Given the description of an element on the screen output the (x, y) to click on. 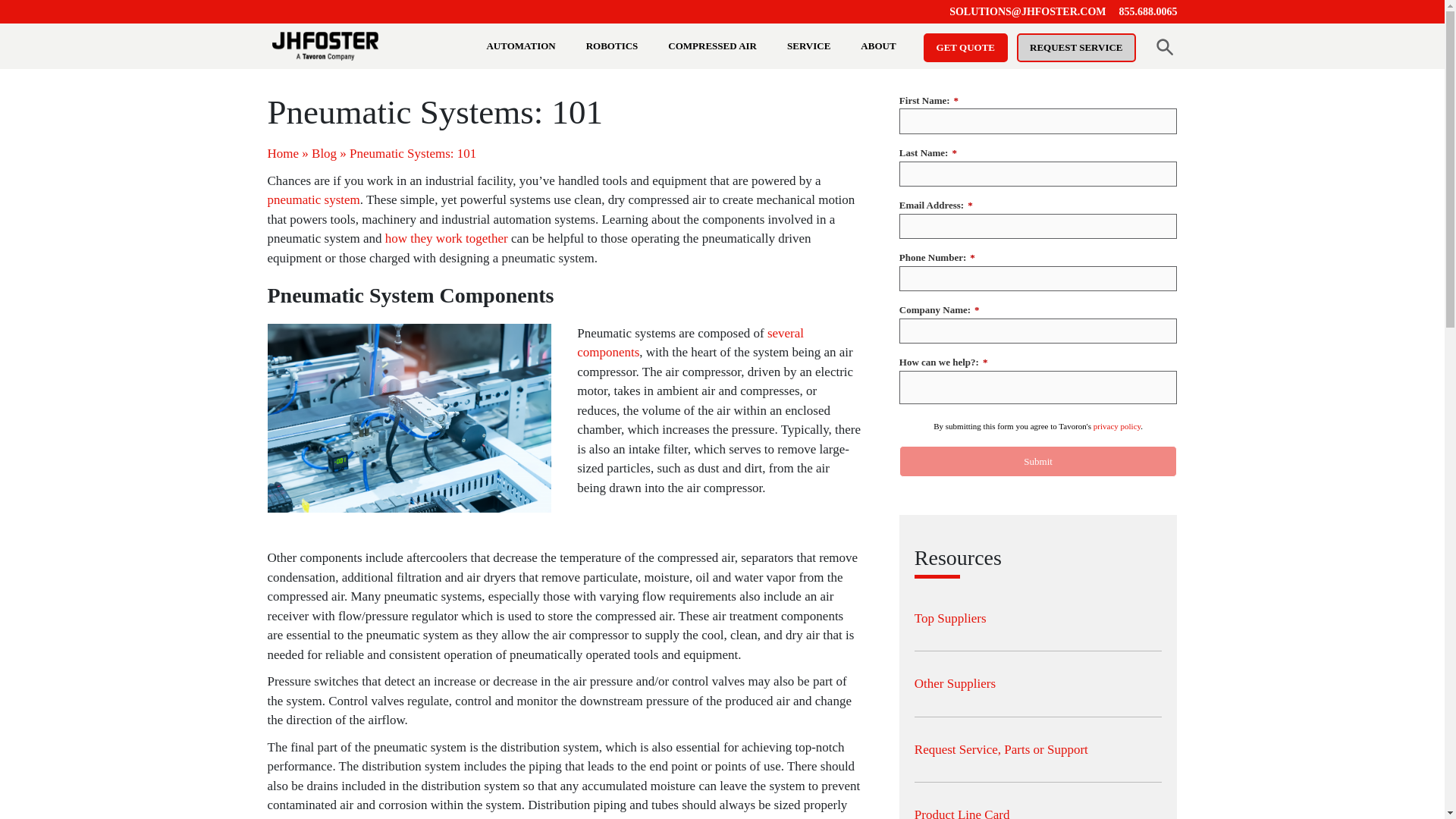
ROBOTICS (619, 45)
855.688.0065 (1147, 11)
COMPRESSED AIR (719, 45)
AUTOMATION (528, 45)
